Given the description of an element on the screen output the (x, y) to click on. 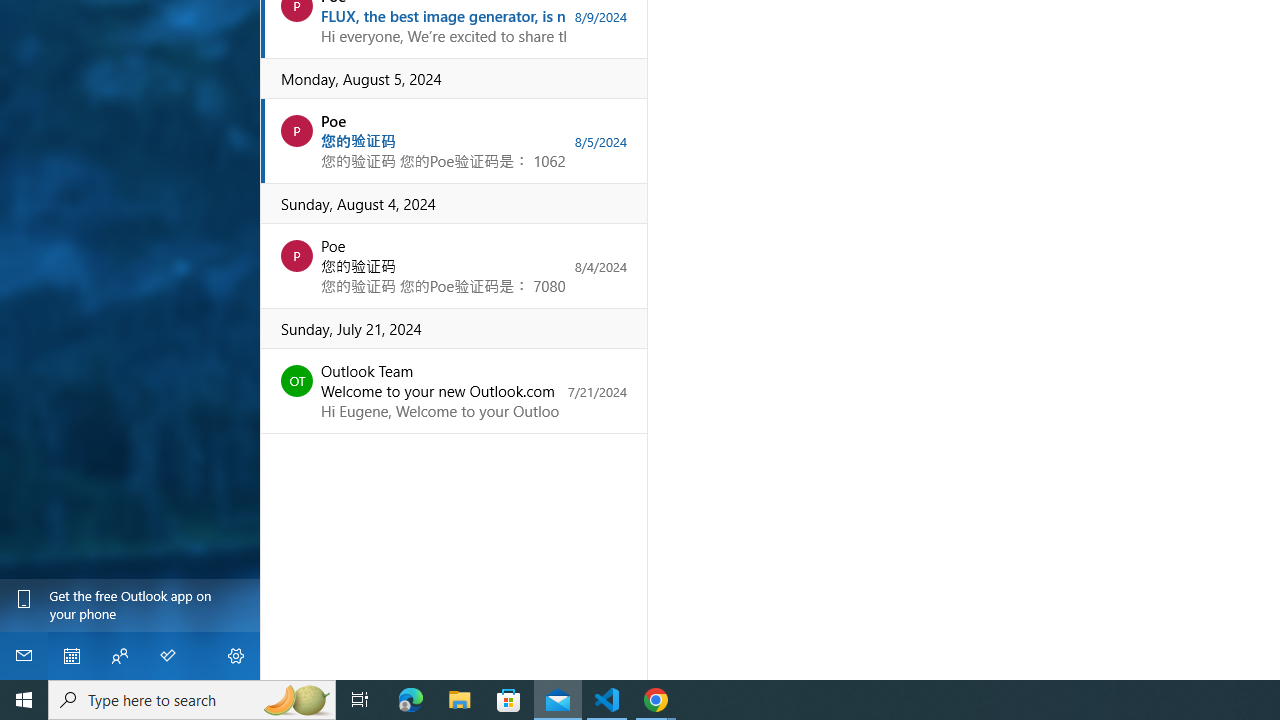
Switch to To Do (167, 655)
Switch to calendar (72, 655)
Get the free Outlook app on your phone (129, 605)
Switch to People (119, 655)
